Given the description of an element on the screen output the (x, y) to click on. 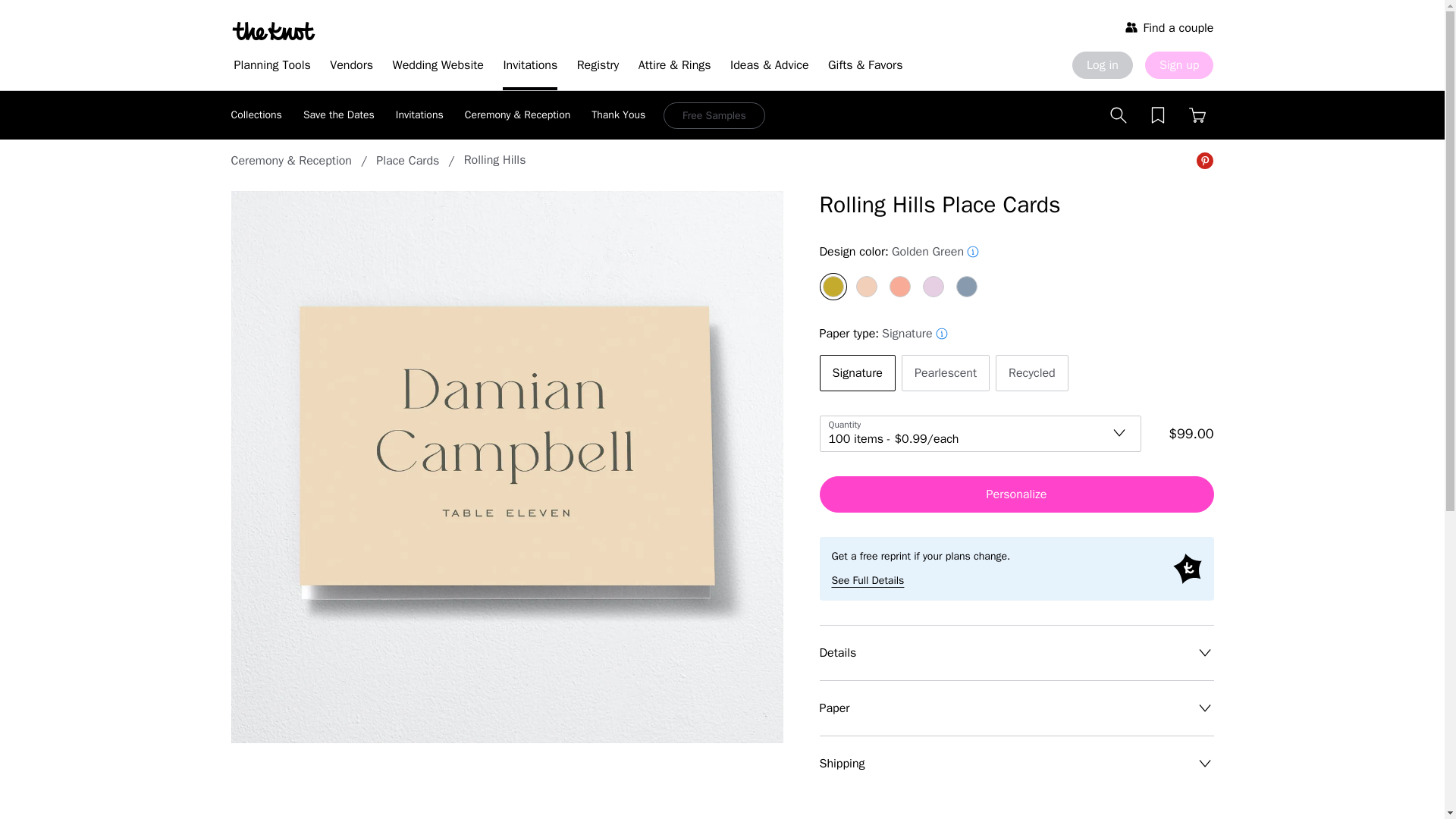
Vendors (350, 67)
Log in (1101, 64)
Invitations (529, 67)
Wedding Website (438, 67)
Planning Tools (271, 67)
Find a couple (1169, 27)
Sign up (1178, 64)
Registry (598, 67)
